Given the description of an element on the screen output the (x, y) to click on. 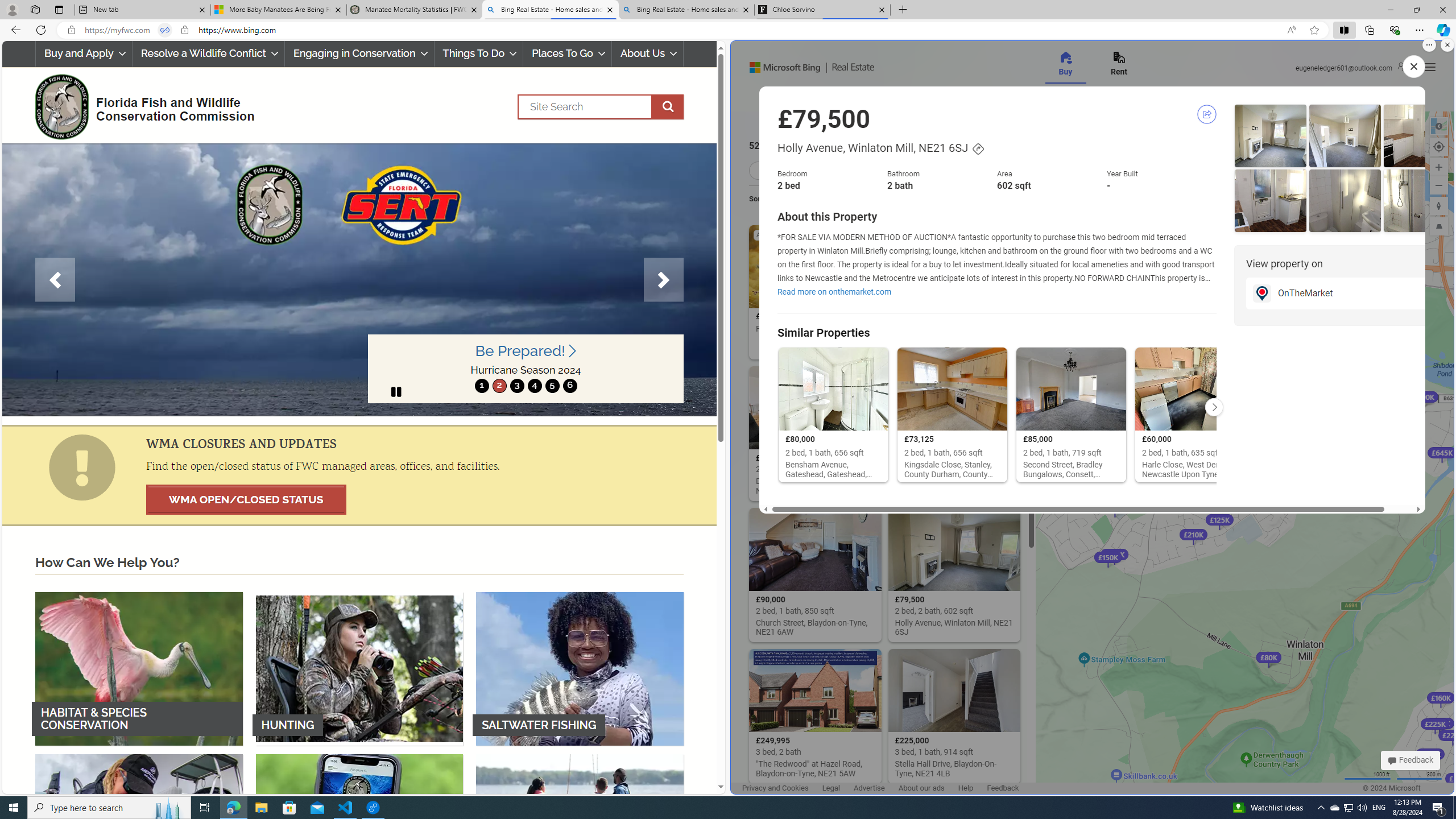
move to slide 2 (499, 385)
Engaging in Conservation (358, 53)
About Us (647, 53)
About Us (647, 53)
slider pause button (396, 391)
6 (569, 385)
carousel image link (359, 279)
More options. (1428, 45)
Next (663, 279)
Bing Real Estate - Home sales and rental listings (685, 9)
Be Prepared!  (525, 351)
